Given the description of an element on the screen output the (x, y) to click on. 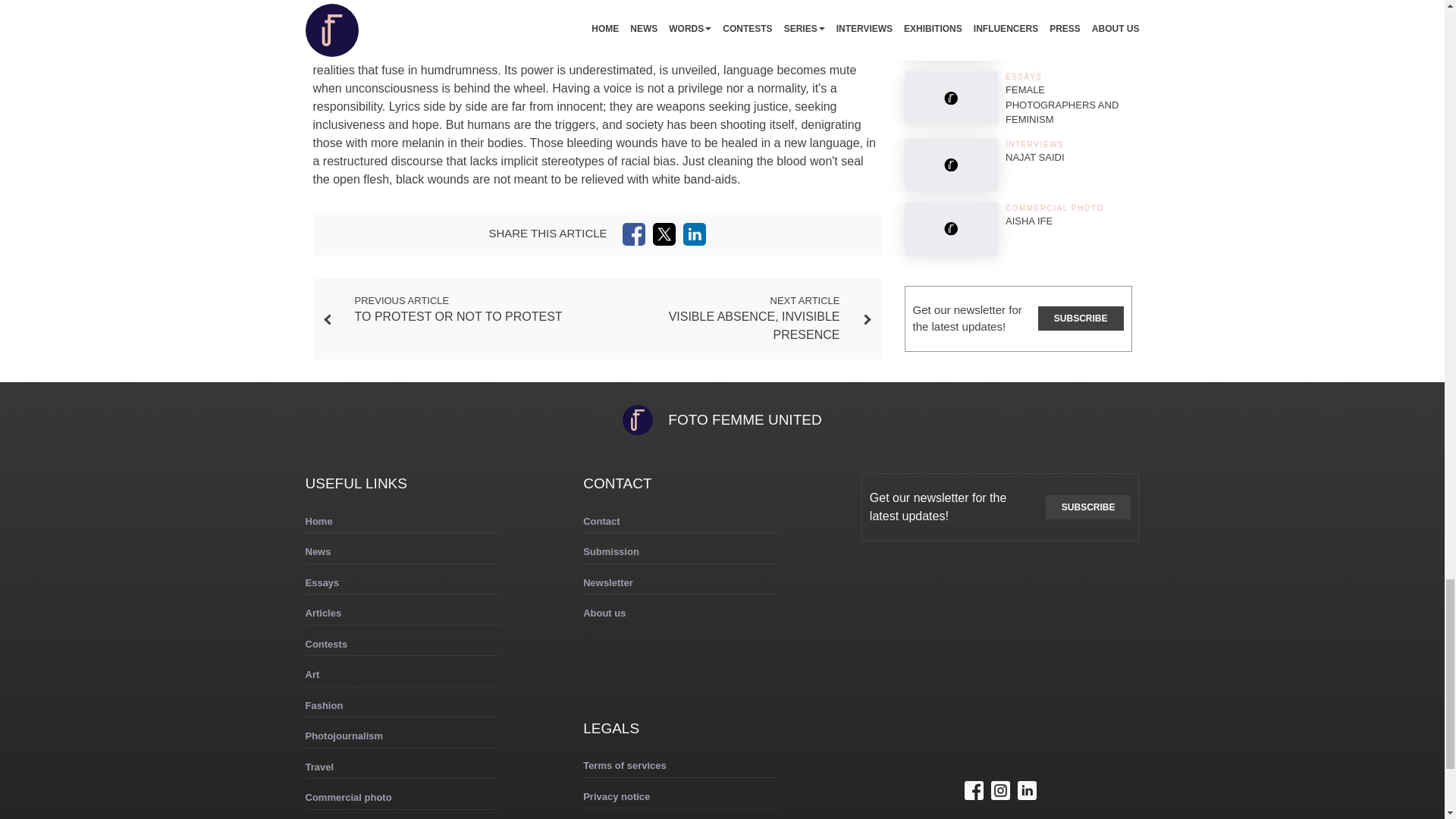
VISIBLE ABSENCE, INVISIBLE PRESENCE (754, 325)
Visible Absence, Invisible Presence (754, 325)
Share this article on Facebook (634, 233)
Share this article on Linked In (694, 233)
TO PROTEST OR NOT TO PROTEST (458, 316)
To protest or not to protest (458, 316)
